Given the description of an element on the screen output the (x, y) to click on. 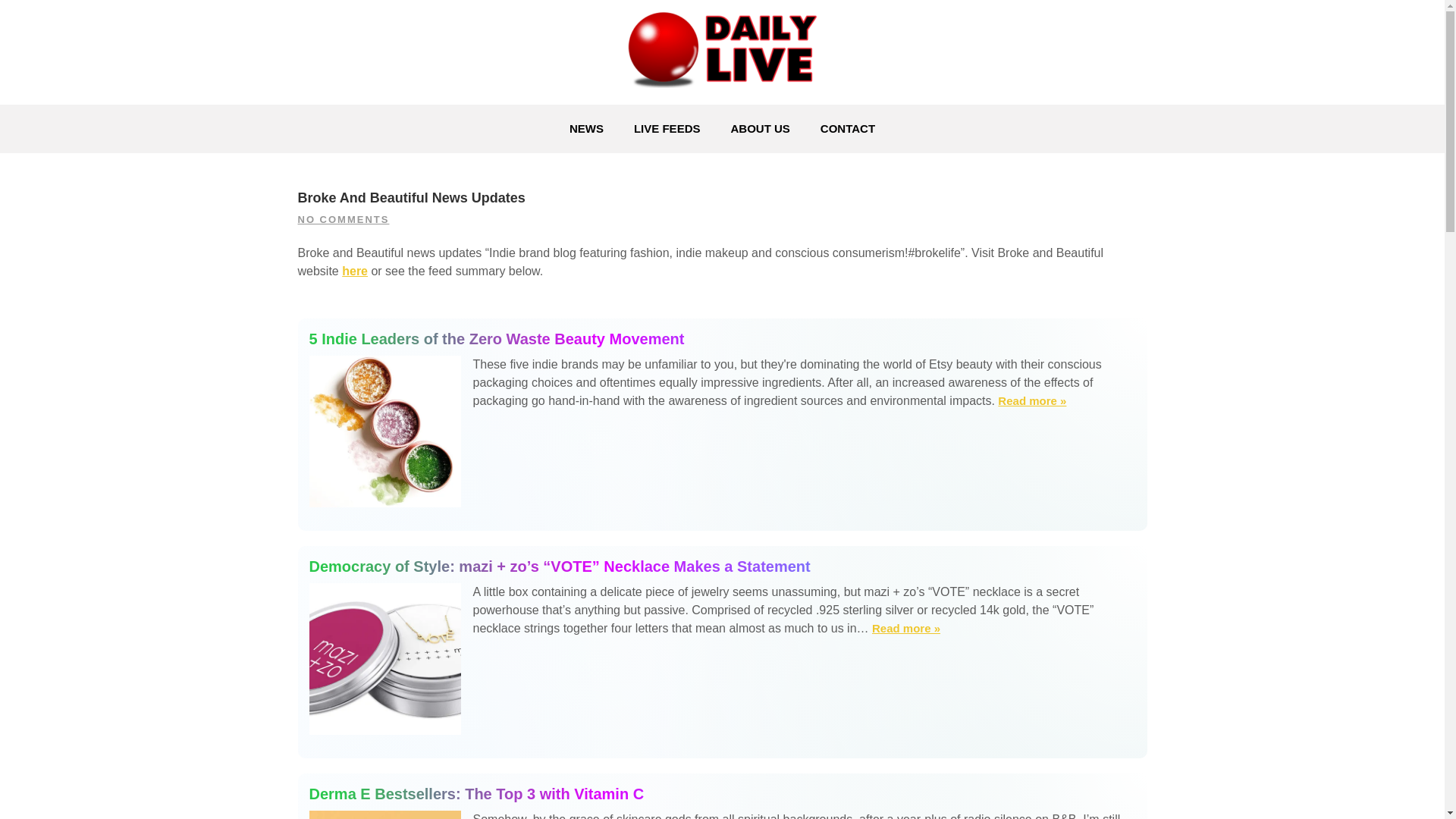
ABOUT US (759, 128)
Derma E Bestsellers: The Top 3 with Vitamin C (721, 793)
5 Indie Leaders of the Zero Waste Beauty Movement (721, 339)
CONTACT (847, 128)
DAILY LIVE FEED (437, 113)
Derma E Bestsellers: The Top 3 with Vitamin C (721, 793)
NO COMMENTS (342, 219)
here (355, 270)
5 Indie Leaders of the Zero Waste Beauty Movement (1031, 401)
5 Indie Leaders of the Zero Waste Beauty Movement (721, 339)
LIVE FEEDS (667, 128)
NEWS (586, 128)
